Given the description of an element on the screen output the (x, y) to click on. 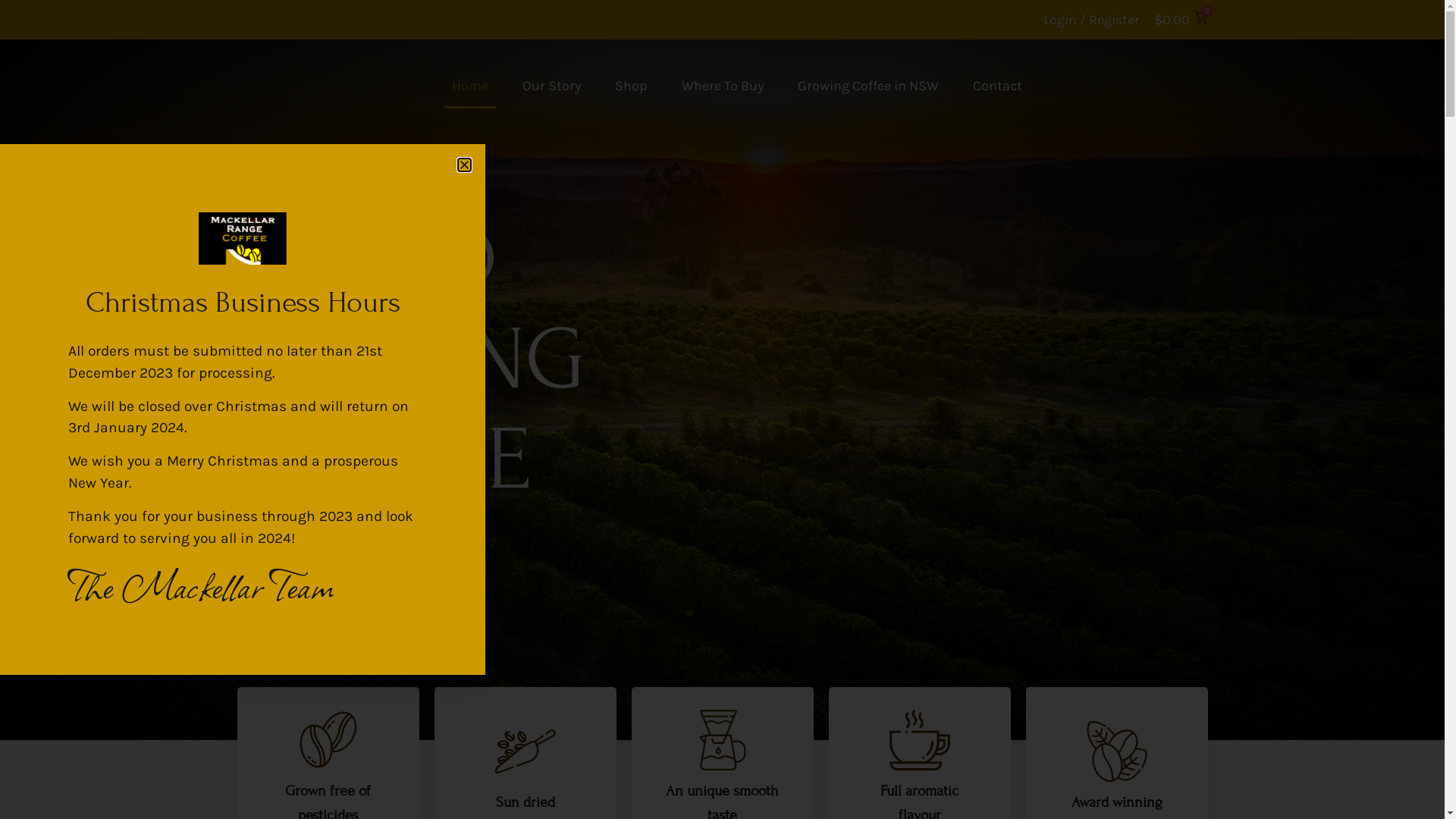
Contact Element type: text (996, 85)
BUY NOW Element type: text (311, 556)
Home Element type: text (469, 85)
Where To Buy Element type: text (721, 85)
Growing Coffee in NSW Element type: text (868, 85)
Login / Register Element type: text (1091, 19)
Shop Element type: text (630, 85)
$0.00
0 Element type: text (1180, 19)
Our Story Element type: text (550, 85)
CONTACT Element type: text (1134, 85)
